Given the description of an element on the screen output the (x, y) to click on. 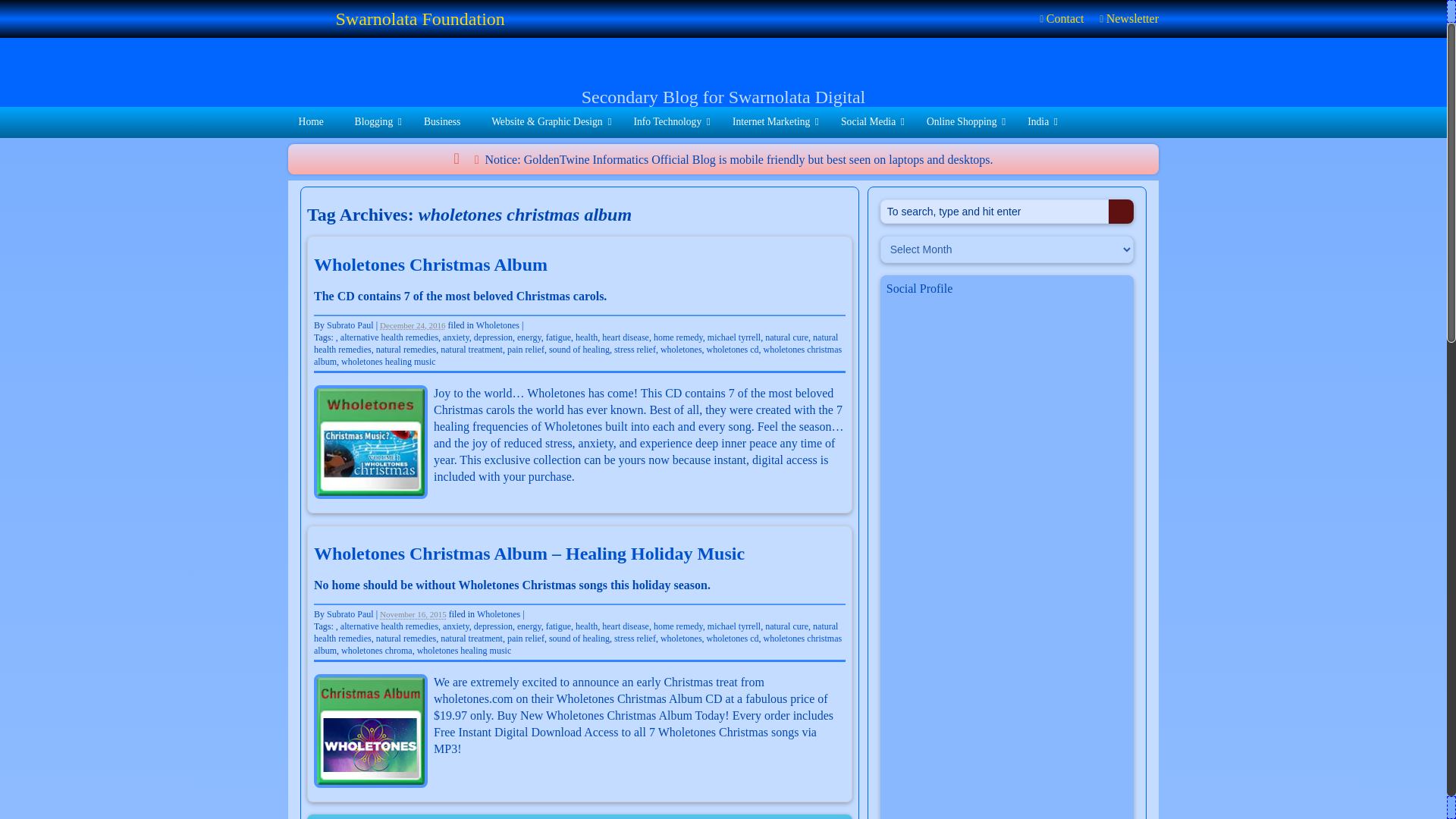
Swarnolata Foundation (307, 21)
Internet Marketing (775, 122)
Home (315, 122)
View all posts by Subrato Paul (350, 325)
View all posts by Subrato Paul (350, 614)
Search (1121, 211)
Social Media (872, 122)
Newsletter (1128, 18)
Blogging (378, 122)
Get Quote Form (1101, 71)
